Given the description of an element on the screen output the (x, y) to click on. 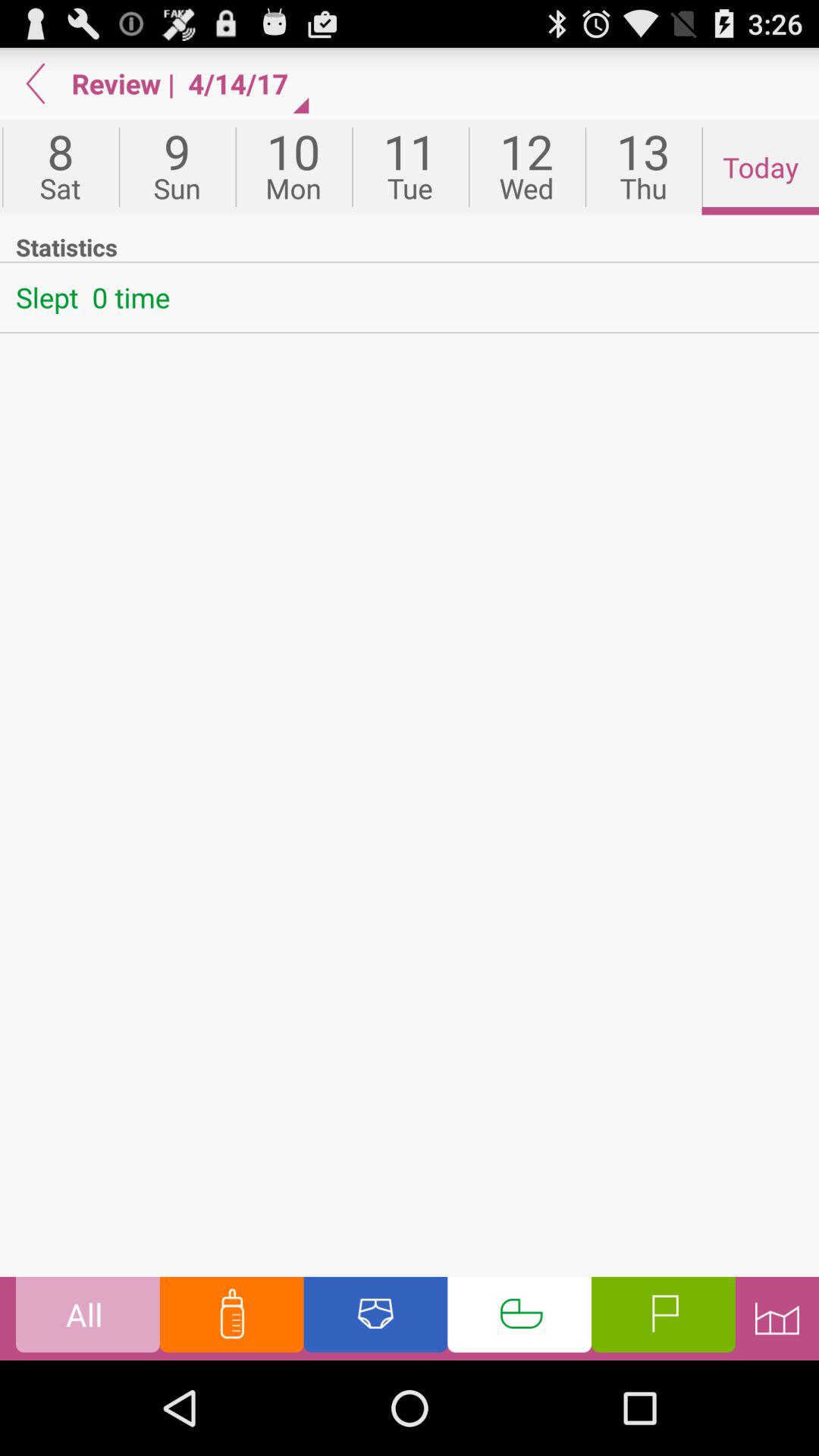
flip until today (760, 166)
